Given the description of an element on the screen output the (x, y) to click on. 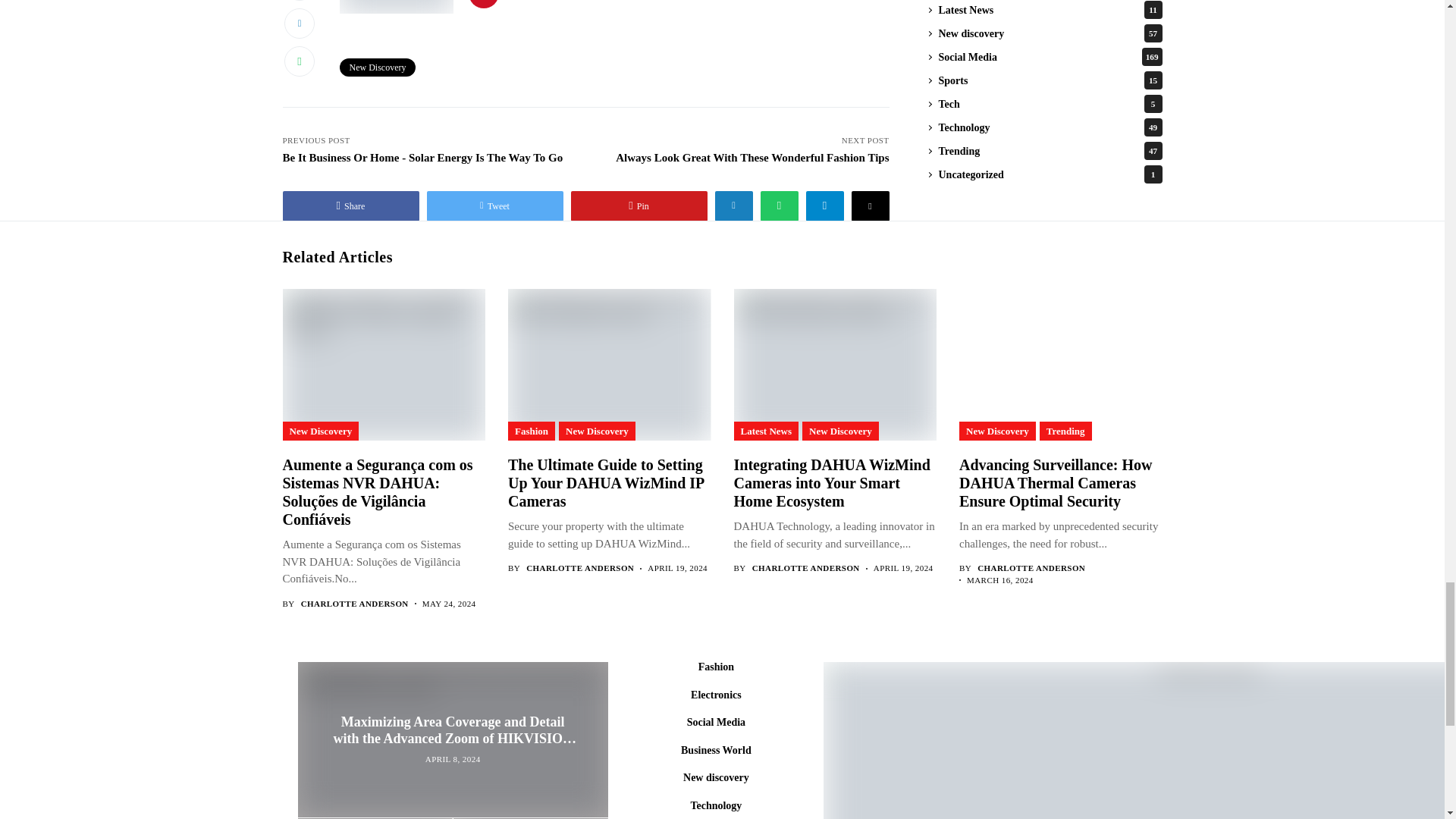
Posts by Charlotte Anderson (1030, 568)
Posts by Charlotte Anderson (355, 603)
Posts by Charlotte Anderson (579, 568)
Posts by Charlotte Anderson (806, 568)
